Given the description of an element on the screen output the (x, y) to click on. 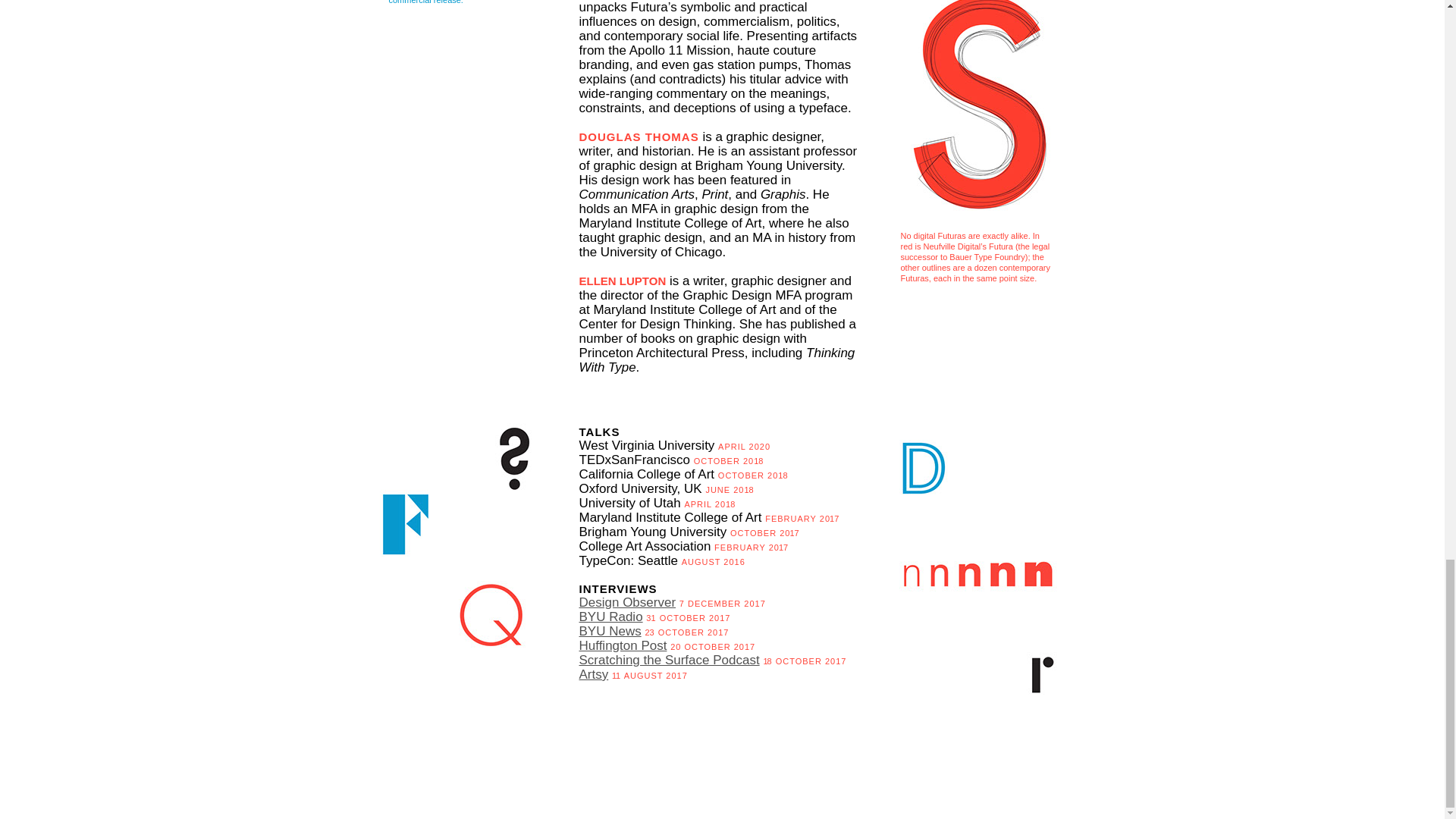
BYU Radio (611, 616)
BYU News (610, 631)
Design Observer (628, 602)
Scratching the Surface Podcast (669, 659)
Artsy (593, 674)
Huffington Post (622, 645)
